Given the description of an element on the screen output the (x, y) to click on. 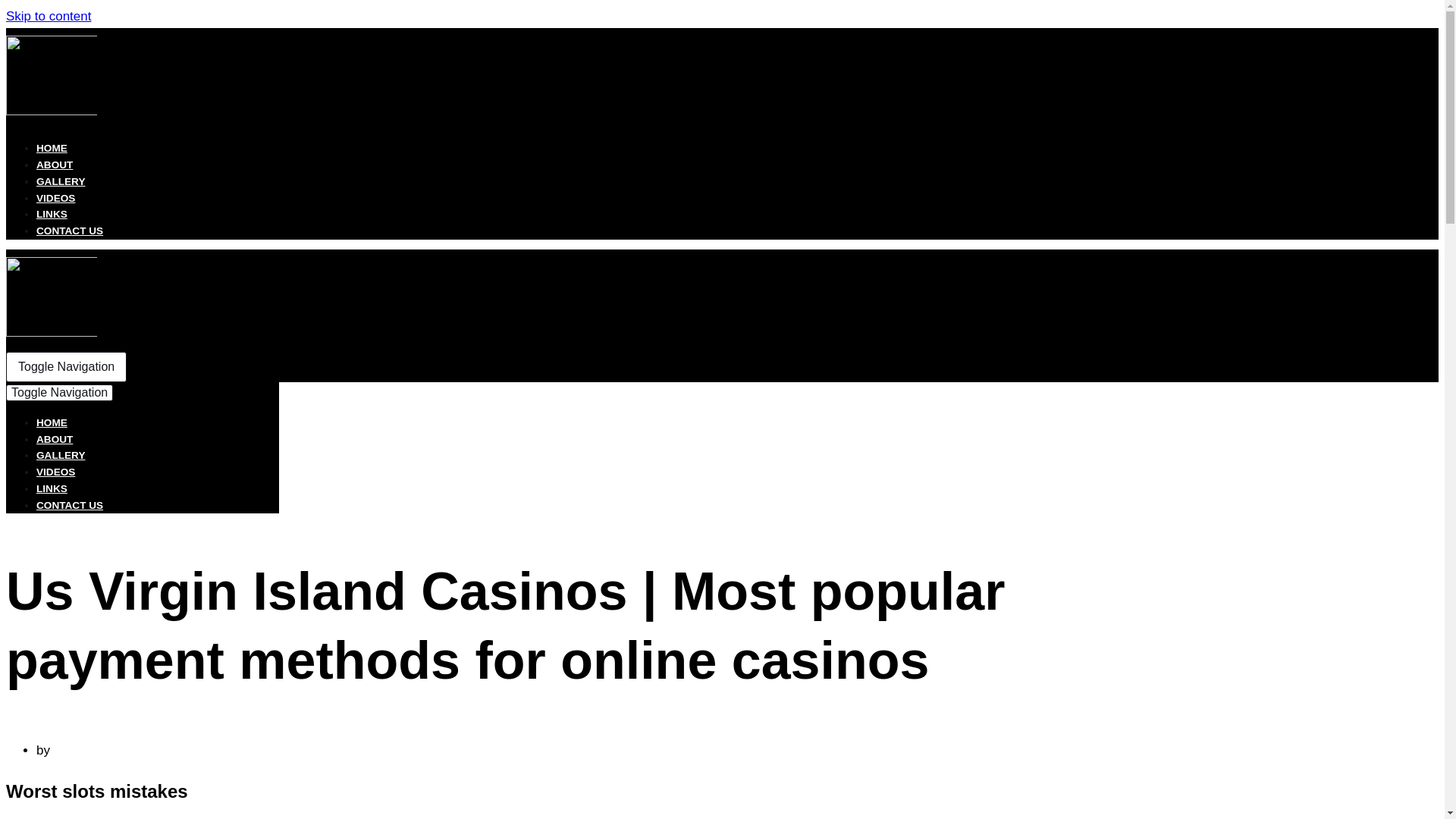
CONTACT US (69, 505)
GGE Real Estate (51, 110)
VIDEOS (55, 197)
GALLERY (60, 455)
CONTACT US (69, 230)
GALLERY (60, 181)
GGE Real Estate (51, 332)
LINKS (51, 214)
HOME (51, 422)
VIDEOS (55, 471)
